Given the description of an element on the screen output the (x, y) to click on. 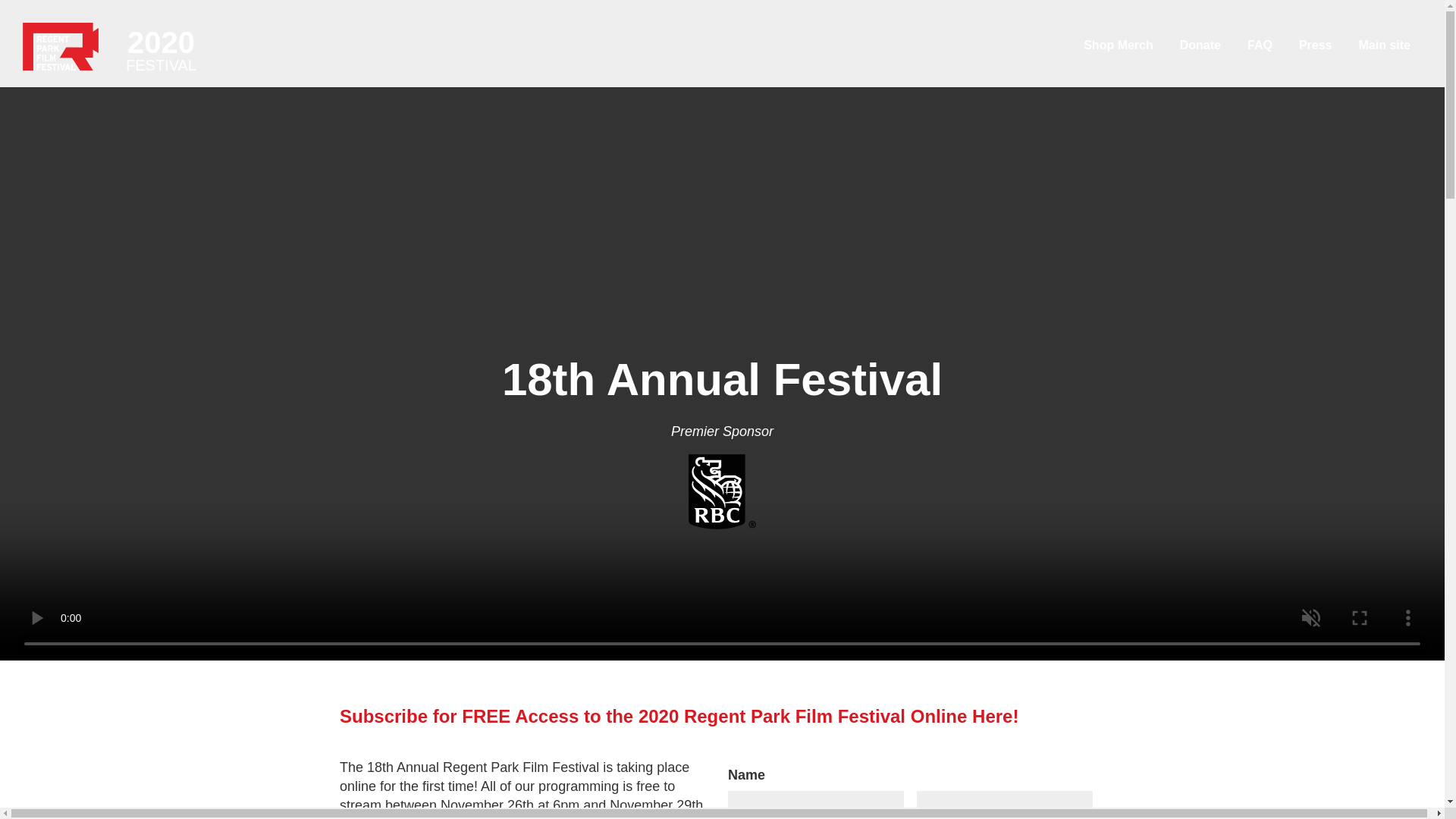
FAQ (1260, 45)
Donate (1200, 45)
Shop Merch (1117, 45)
Main site (1385, 45)
Press (1315, 45)
